Given the description of an element on the screen output the (x, y) to click on. 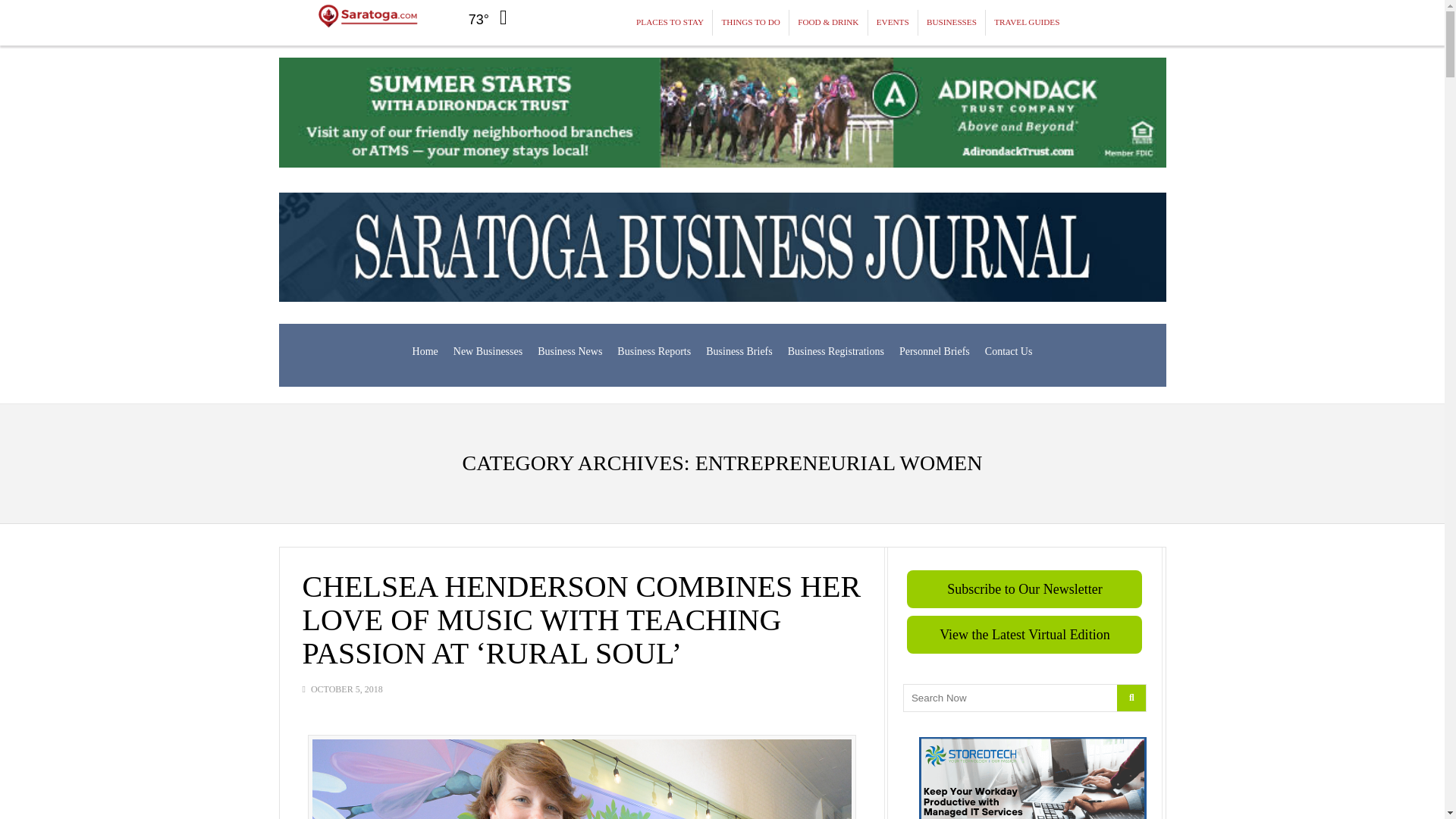
THINGS TO DO (751, 22)
Business News (569, 351)
Weather Forecast (493, 17)
Business Reports (654, 351)
Business Registrations (835, 351)
Home (424, 351)
EVENTS (892, 22)
Business Briefs (739, 351)
Personnel Briefs (933, 351)
TRAVEL GUIDES (1026, 22)
Display Ad for Adirondack Trust (722, 112)
BUSINESSES (951, 22)
PLACES TO STAY (670, 22)
New Businesses (487, 351)
OCTOBER 5, 2018 (346, 688)
